Given the description of an element on the screen output the (x, y) to click on. 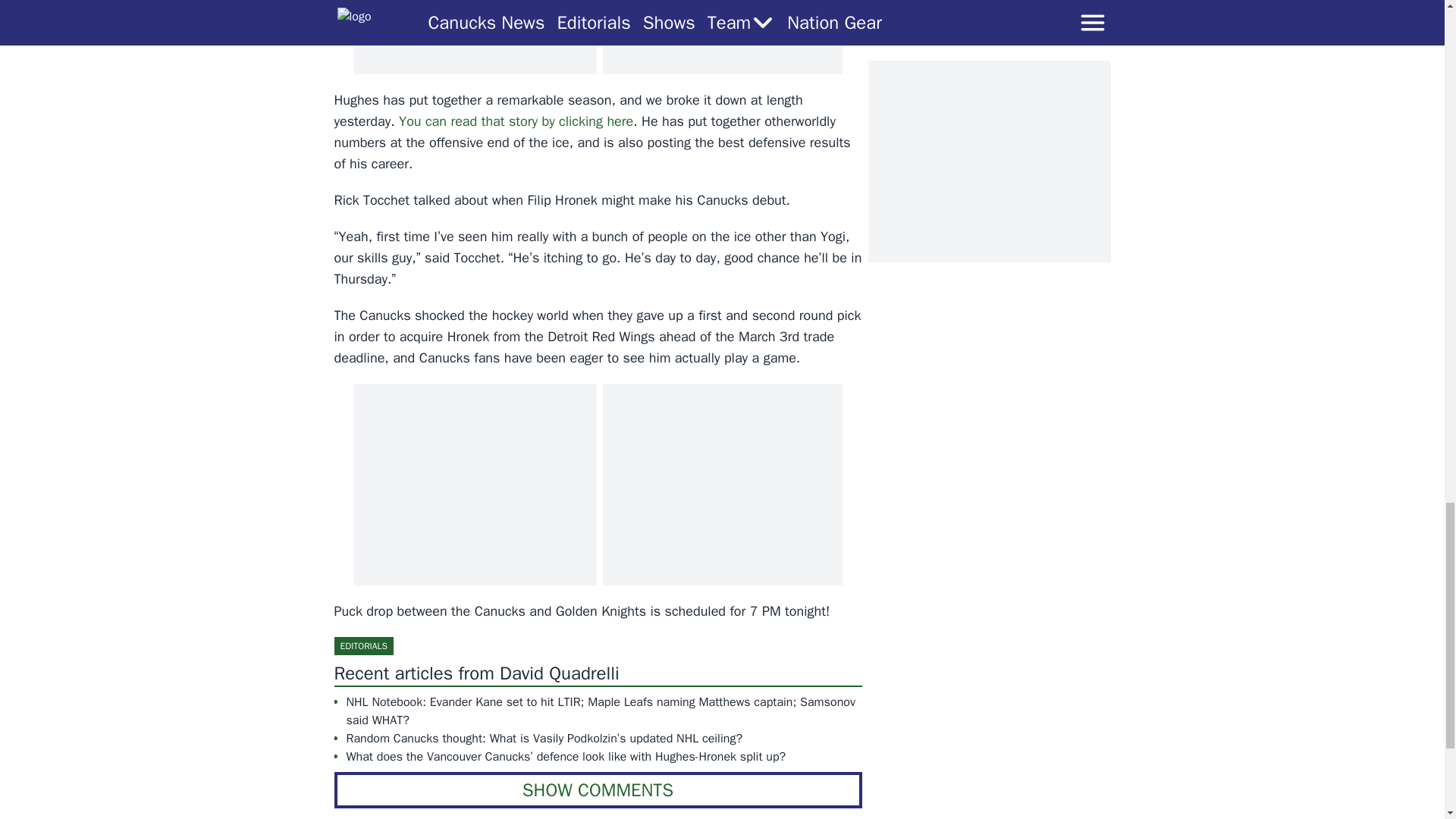
SHOW COMMENTS (597, 790)
EDITORIALS (363, 646)
SHOW COMMENTS (597, 790)
You can read that story by clicking here (515, 121)
